Given the description of an element on the screen output the (x, y) to click on. 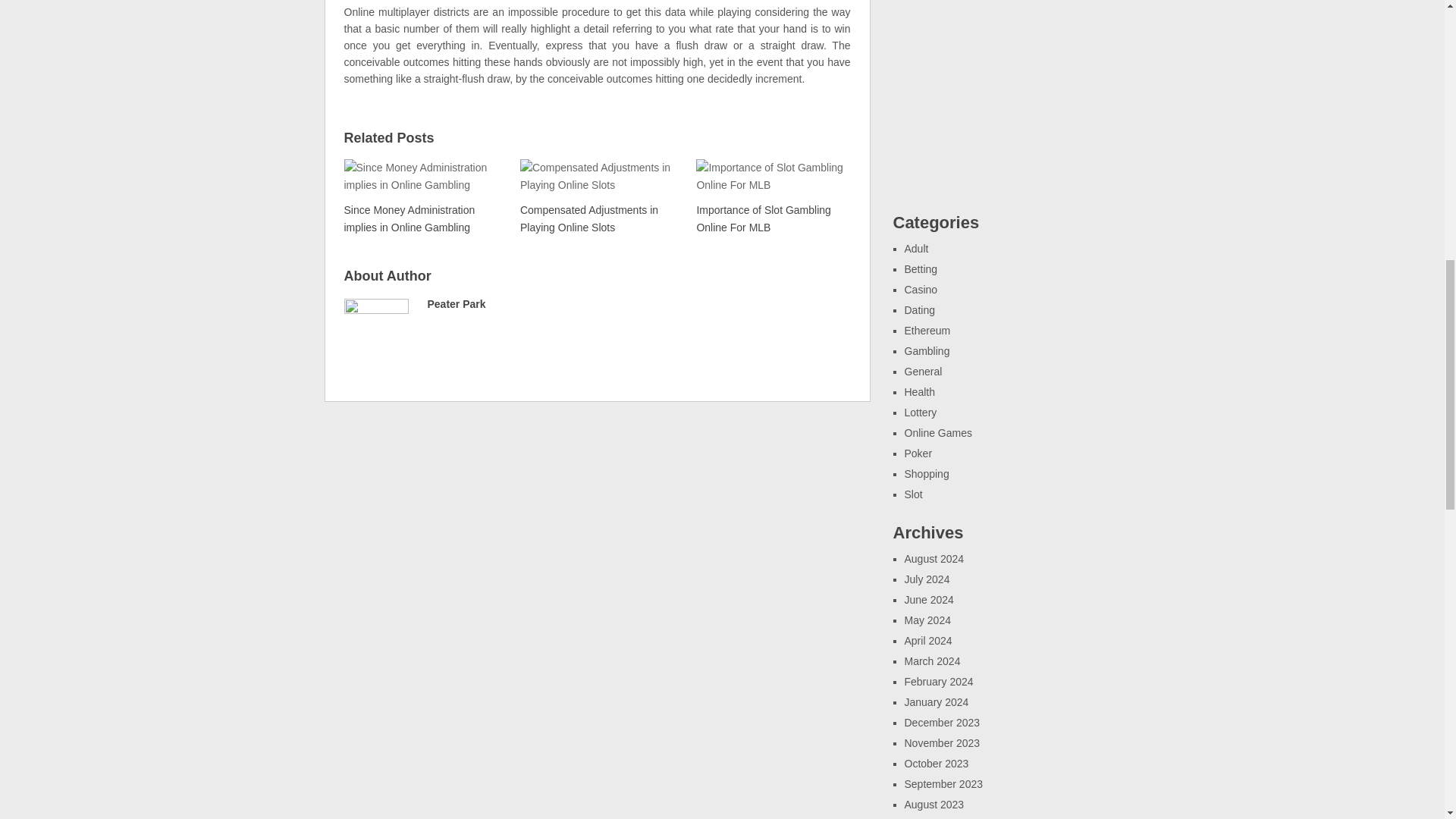
Compensated Adjustments in Playing Online Slots (595, 195)
Compensated Adjustments in Playing Online Slots (595, 195)
Betting (920, 268)
Dating (919, 309)
Casino (920, 289)
Gambling (926, 350)
Importance of Slot Gambling Online For MLB (771, 195)
Since Money Administration implies in Online Gambling (419, 195)
Importance of Slot Gambling Online For MLB (771, 195)
Ethereum (927, 330)
